Given the description of an element on the screen output the (x, y) to click on. 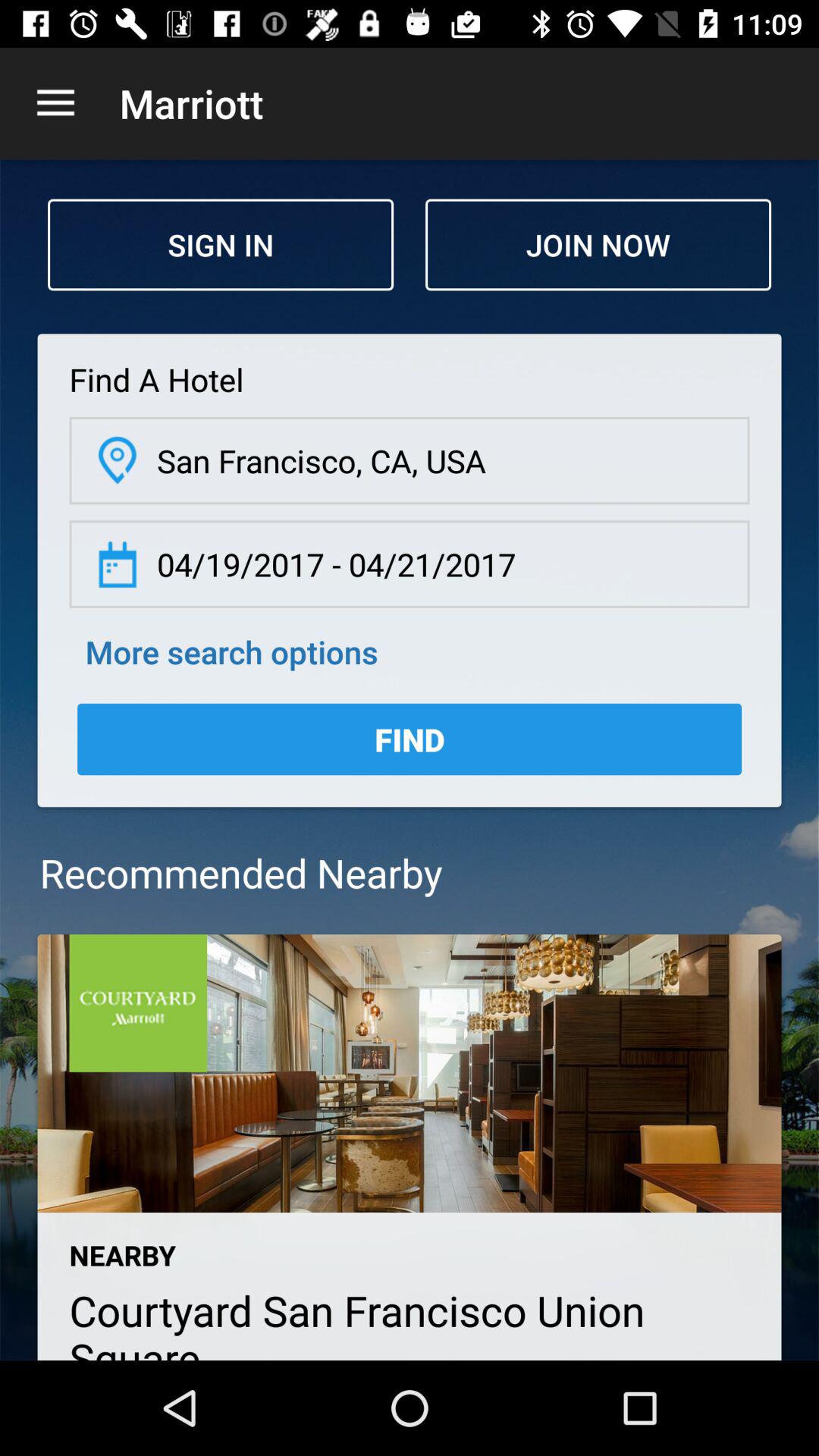
flip to the join now item (598, 244)
